Given the description of an element on the screen output the (x, y) to click on. 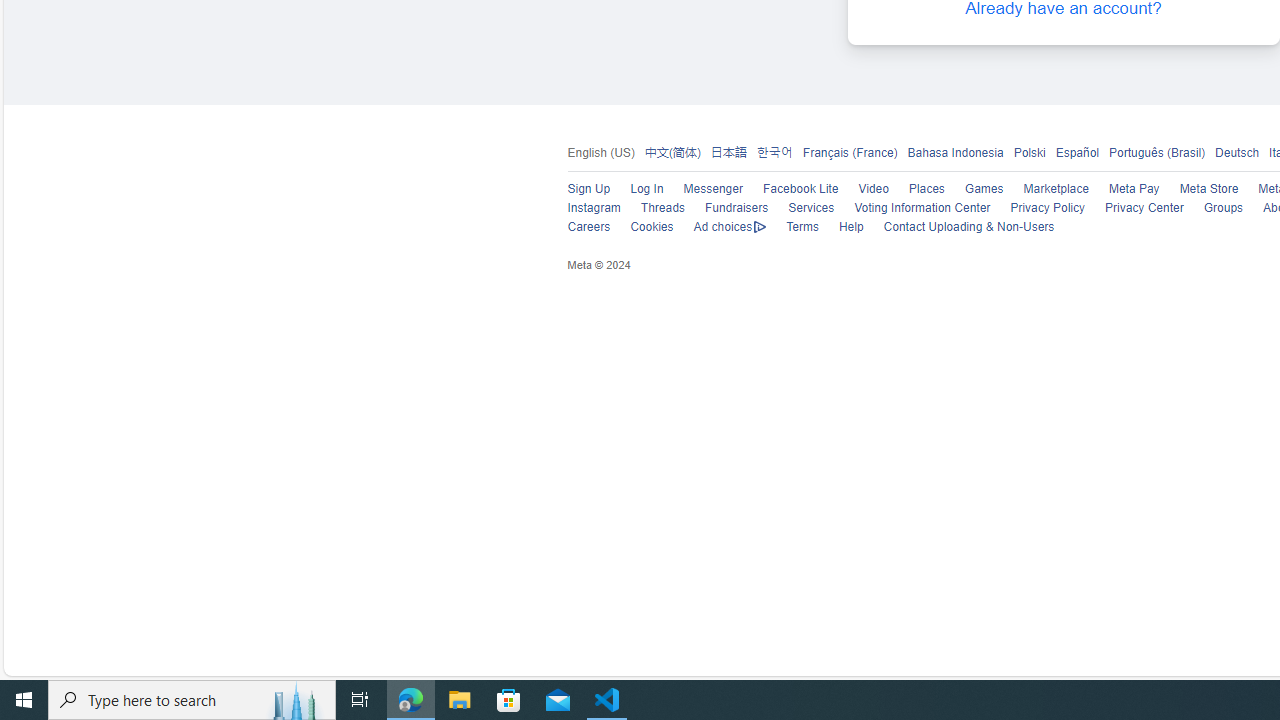
Cookies (642, 228)
Games (973, 190)
Facebook Lite (799, 189)
Instagram (583, 208)
Games (983, 189)
Contact Uploading & Non-Users (958, 228)
Deutsch (1236, 151)
